Given the description of an element on the screen output the (x, y) to click on. 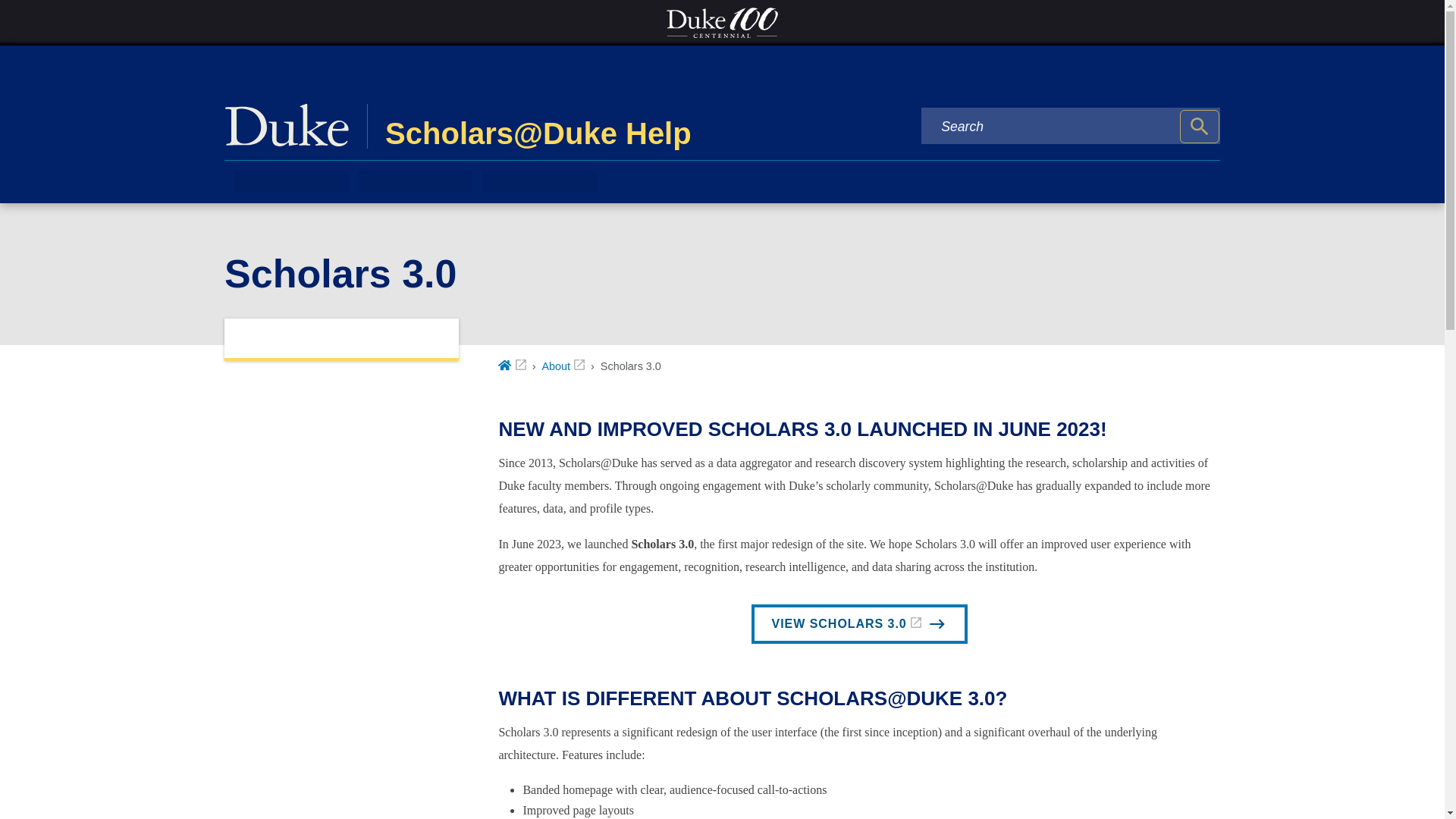
About (563, 366)
Home (511, 366)
VIEW SCHOLARS 3.0 (859, 623)
